Given the description of an element on the screen output the (x, y) to click on. 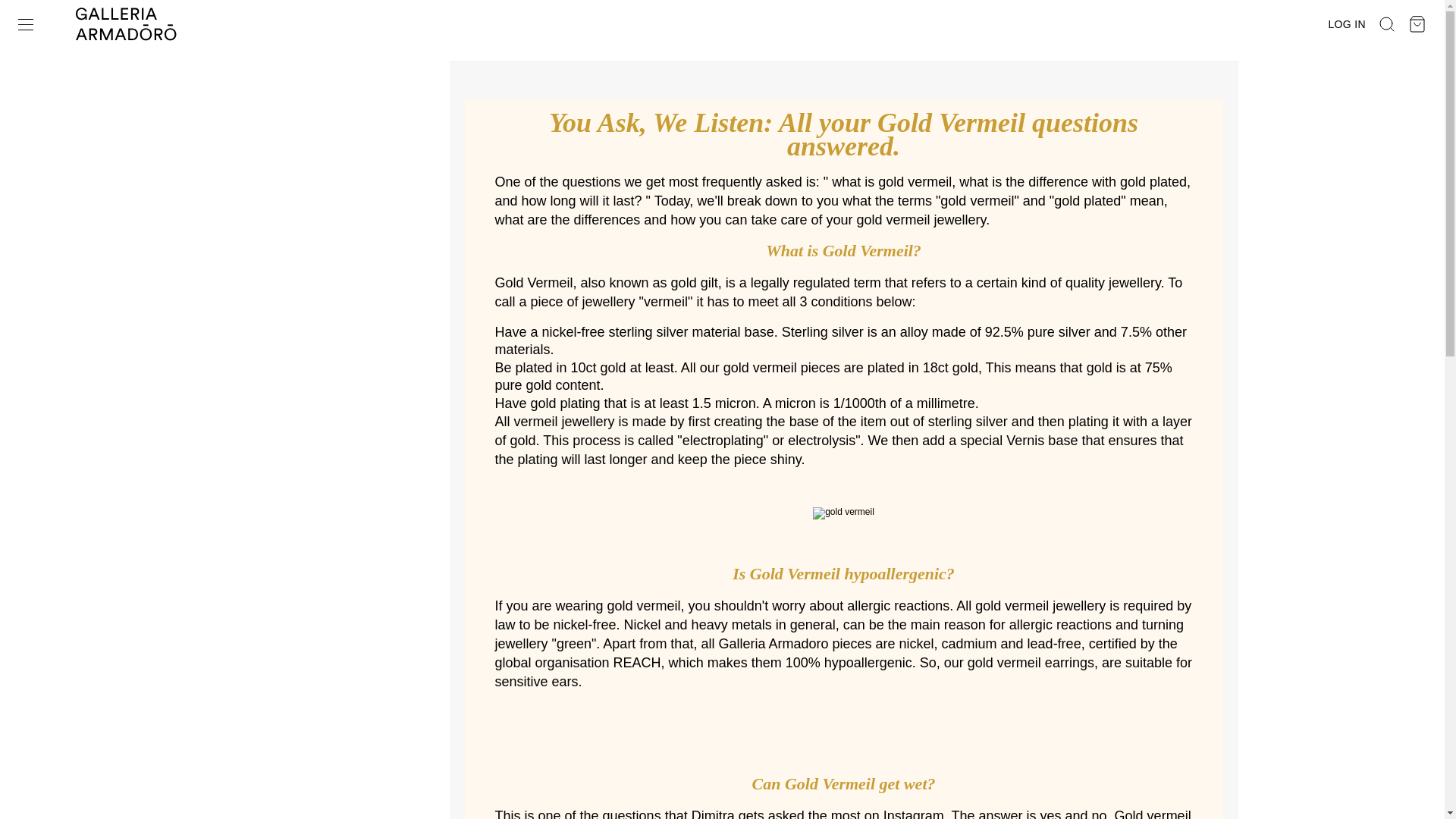
Instagram (913, 813)
LOG IN (1346, 24)
Cart (1417, 24)
